Given the description of an element on the screen output the (x, y) to click on. 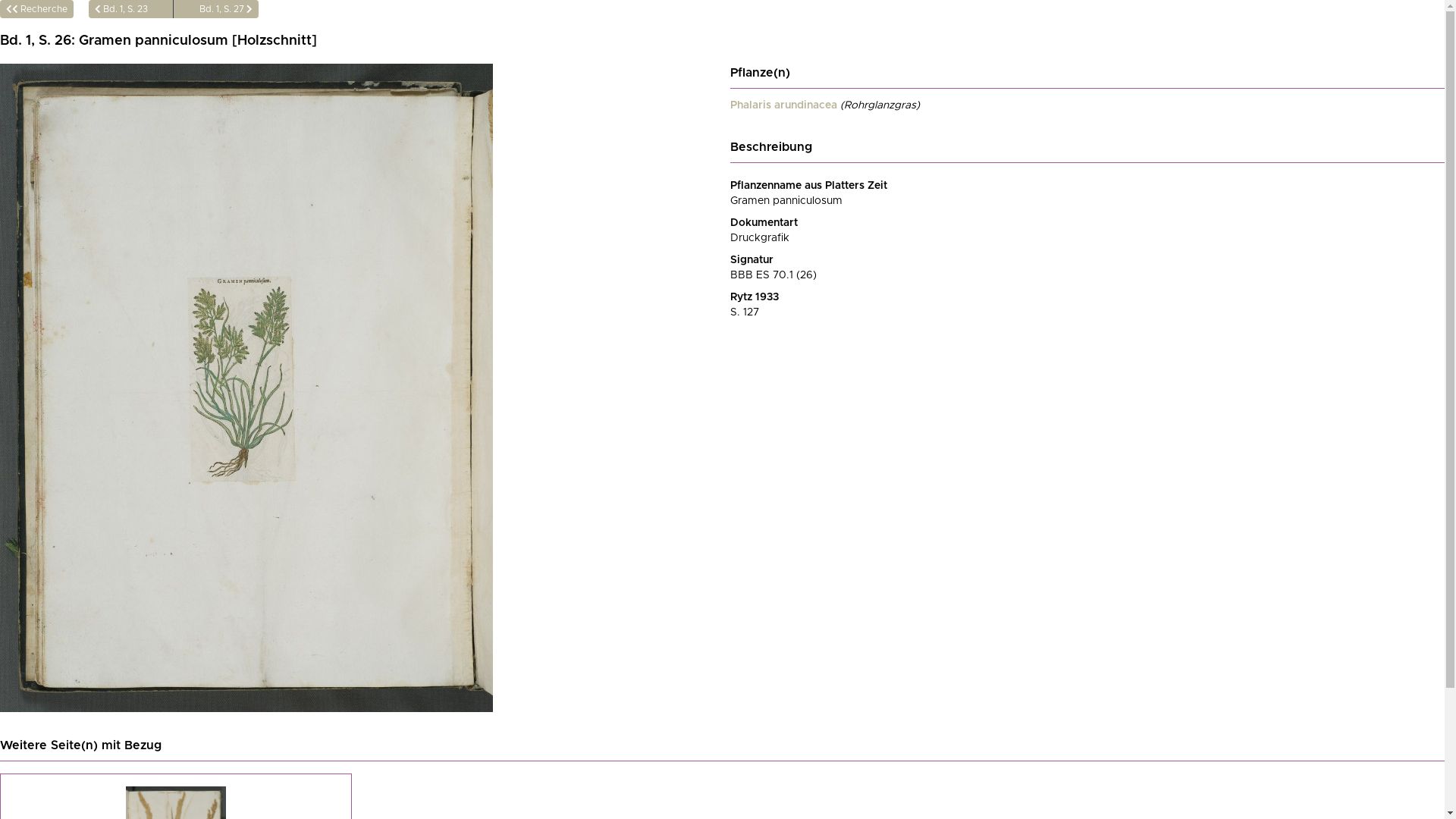
Bd. 1, S. 27 Element type: text (215, 9)
Recherche Element type: text (36, 9)
Bd. 1, S. 23 Element type: text (130, 9)
Phalaris arundinacea Element type: text (782, 105)
